Given the description of an element on the screen output the (x, y) to click on. 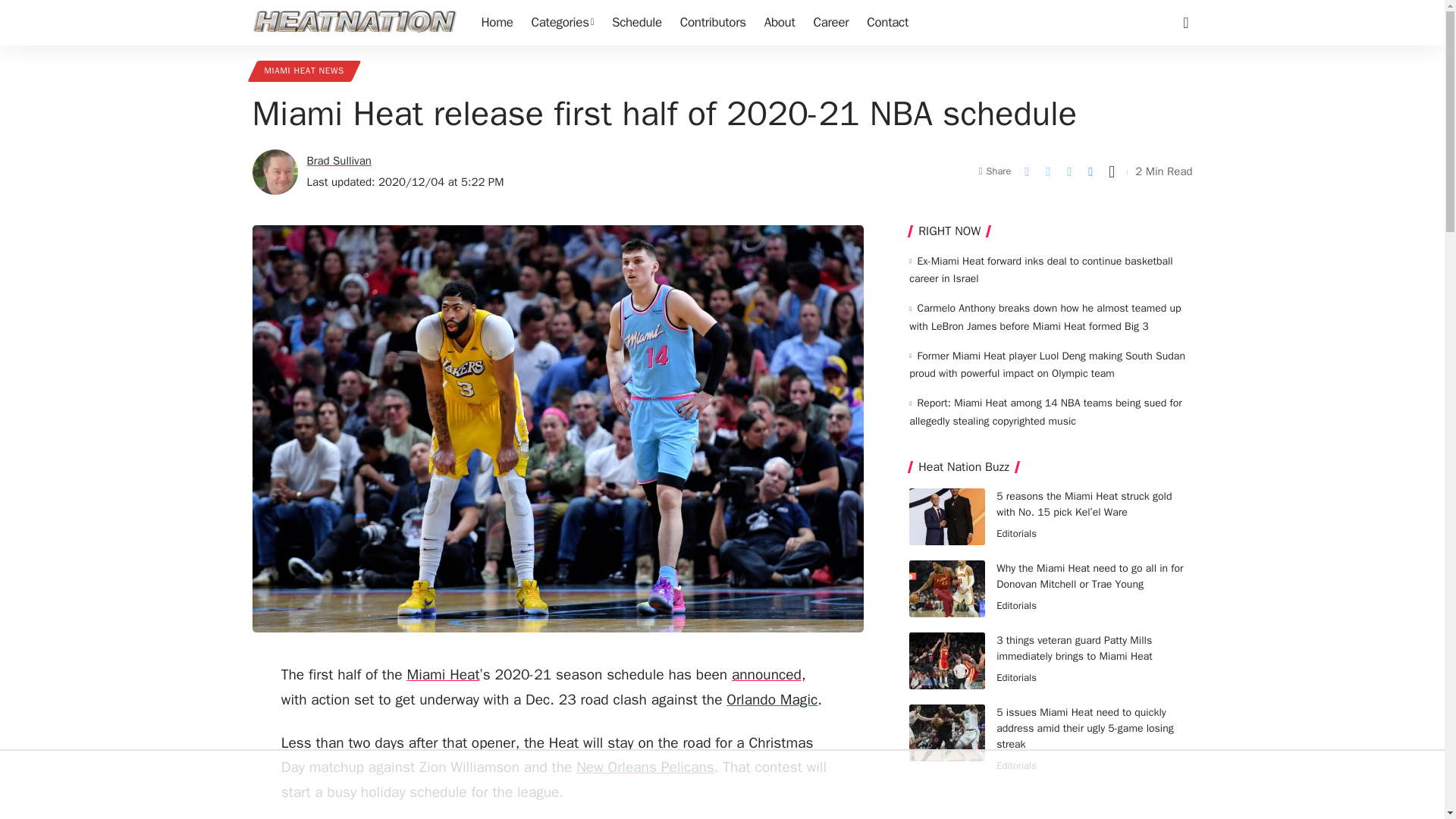
New Orleans Pelicans (645, 767)
About (780, 22)
Home (496, 22)
announced (767, 674)
Categories (562, 22)
Orlando Magic (771, 700)
Miami Heat (442, 674)
Categories (562, 22)
Contributors (713, 22)
New Orleans Pelicans (645, 767)
Career (830, 22)
Schedule (636, 22)
MIAMI HEAT NEWS (303, 70)
Contact (887, 22)
Orlando Magic (771, 700)
